Given the description of an element on the screen output the (x, y) to click on. 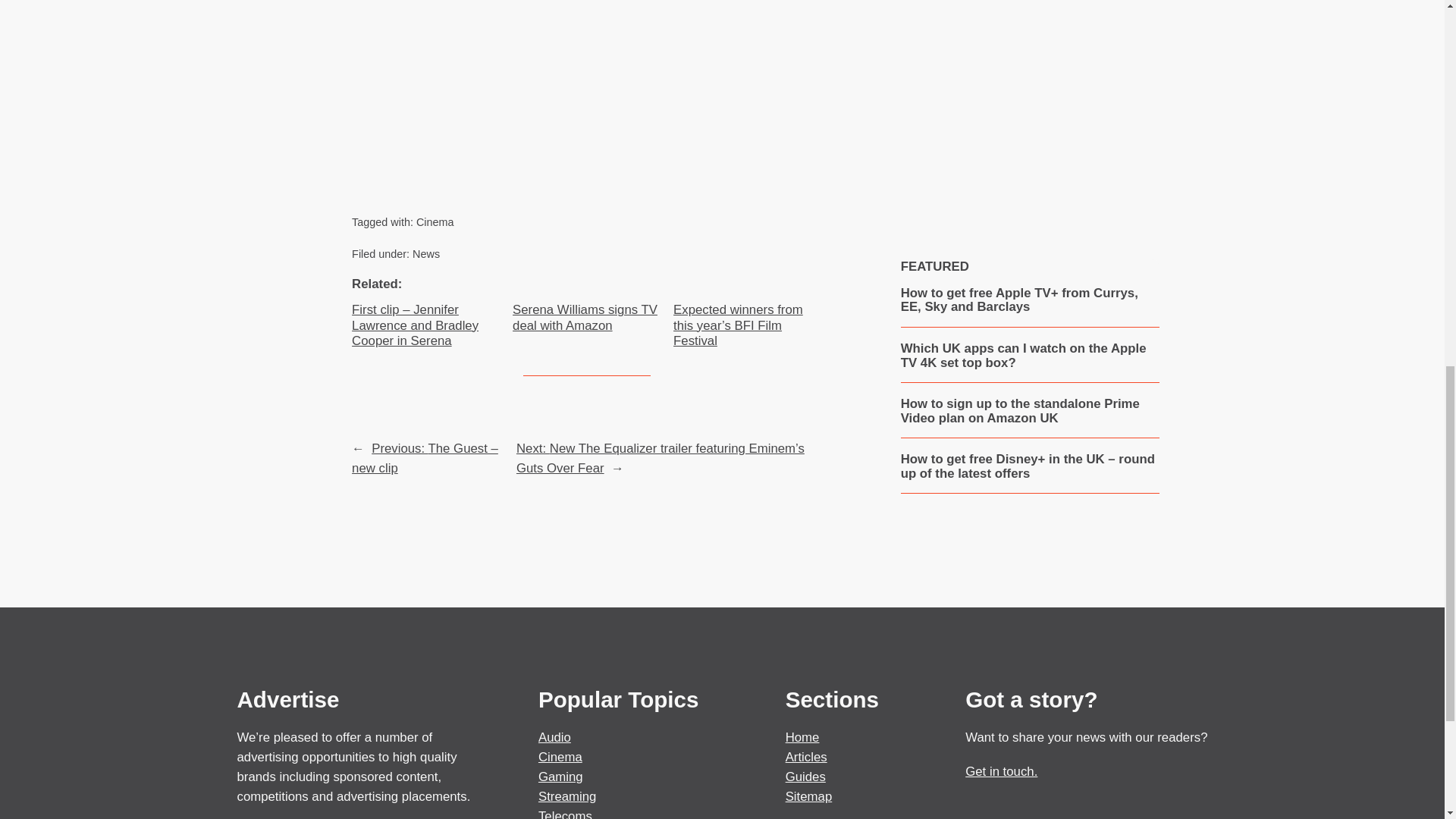
News (425, 254)
Sitemap (809, 796)
Guides (805, 776)
Streaming (566, 796)
Audio (554, 737)
Articles (806, 757)
Advertisement (1028, 100)
Cinema (560, 757)
Telecoms (565, 814)
